Given the description of an element on the screen output the (x, y) to click on. 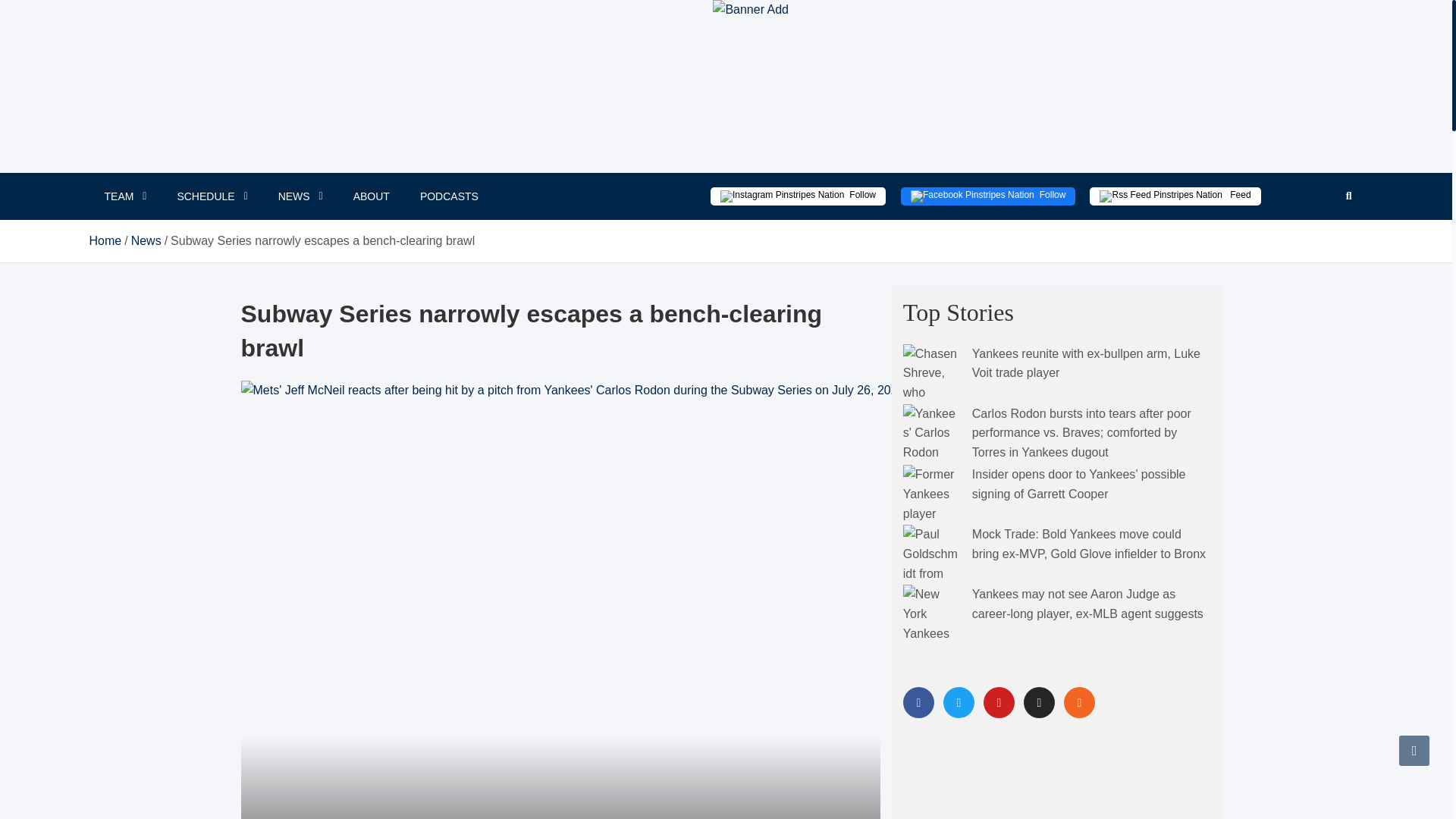
ABOUT (370, 196)
Follow Pinstripes Nation's Page on Facebook (988, 196)
Feed (1174, 196)
Pinstripes Nation (721, 48)
Follow (797, 196)
Follow Pinstripes Nation's Page on Instagram (797, 196)
Home (105, 240)
TEAM (124, 196)
NEWS (300, 196)
Follow (988, 196)
News (146, 240)
SCHEDULE (211, 196)
PODCASTS (448, 196)
